Given the description of an element on the screen output the (x, y) to click on. 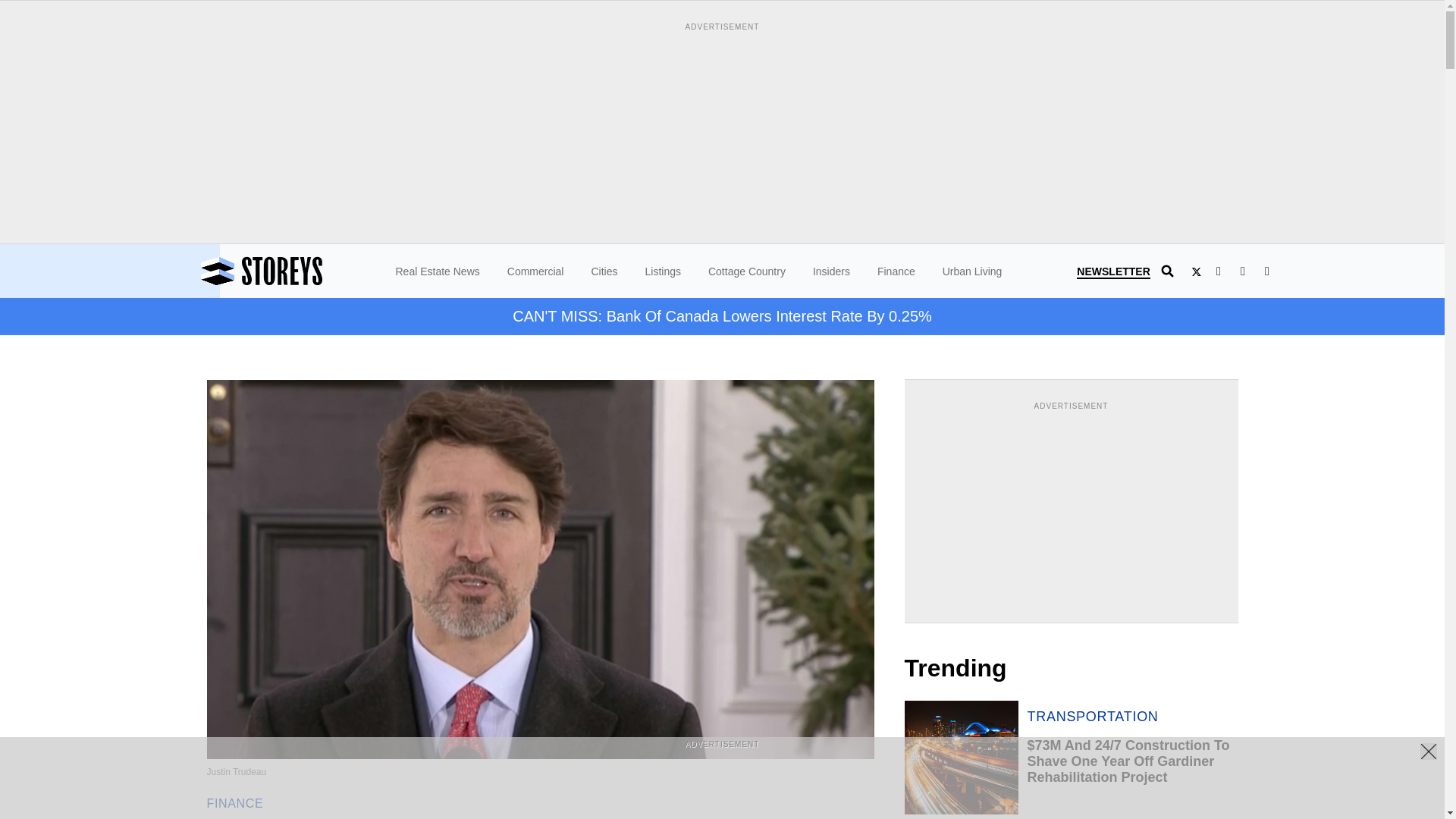
Cottage Country (746, 271)
Storeys - Real Estate News in Canada (302, 270)
Cities (603, 271)
Listings (662, 271)
Commercial (535, 271)
3rd party ad content (1070, 507)
Real Estate News (437, 271)
3rd party ad content (721, 785)
